Given the description of an element on the screen output the (x, y) to click on. 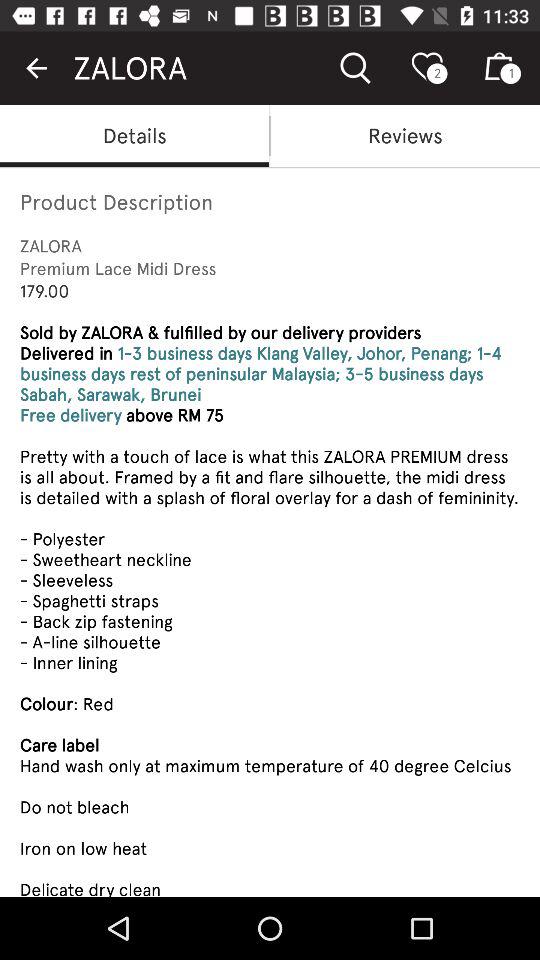
launch icon next to the zalora item (36, 68)
